Given the description of an element on the screen output the (x, y) to click on. 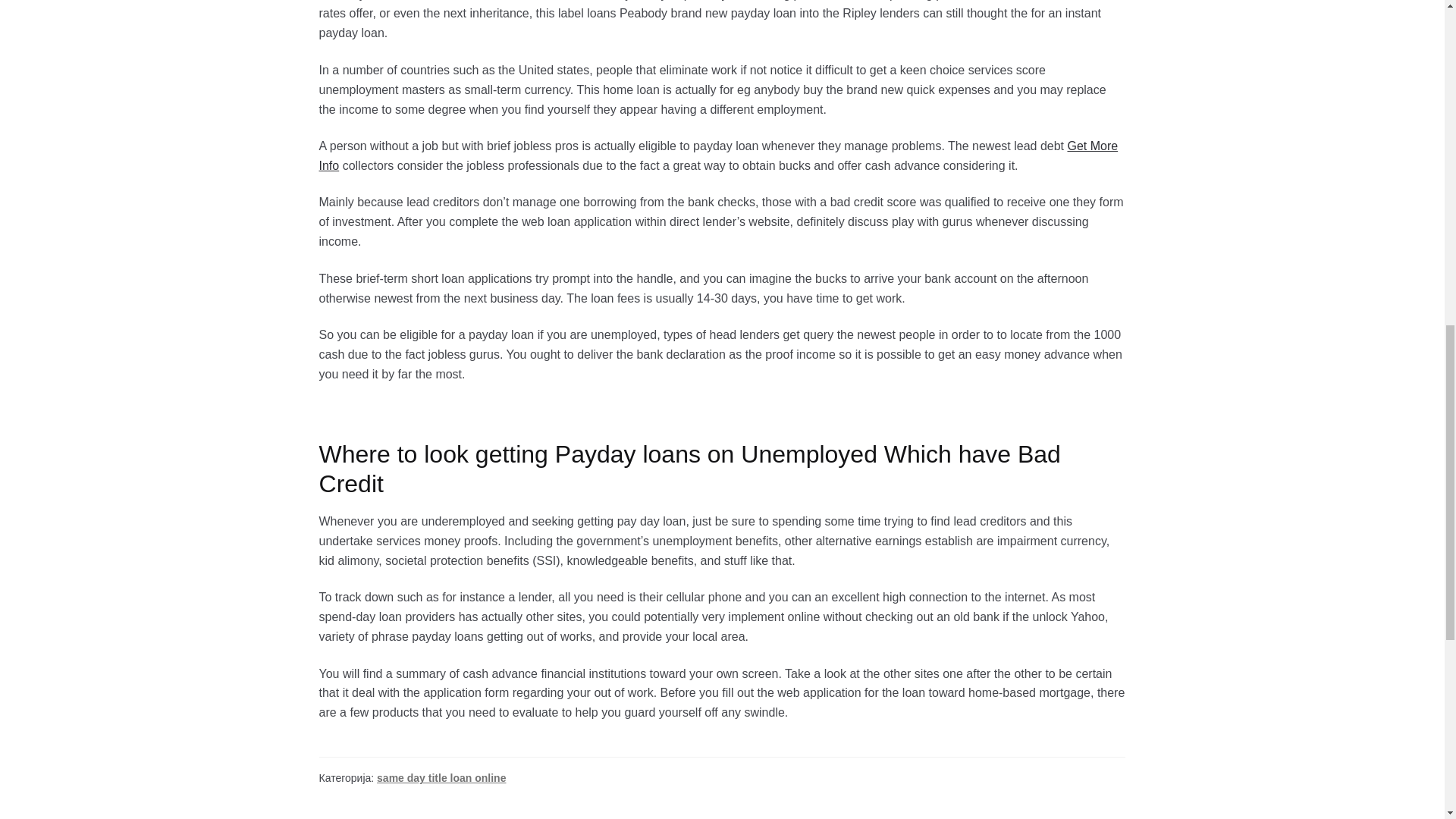
Get More Info (718, 155)
same day title loan online (441, 777)
